Given the description of an element on the screen output the (x, y) to click on. 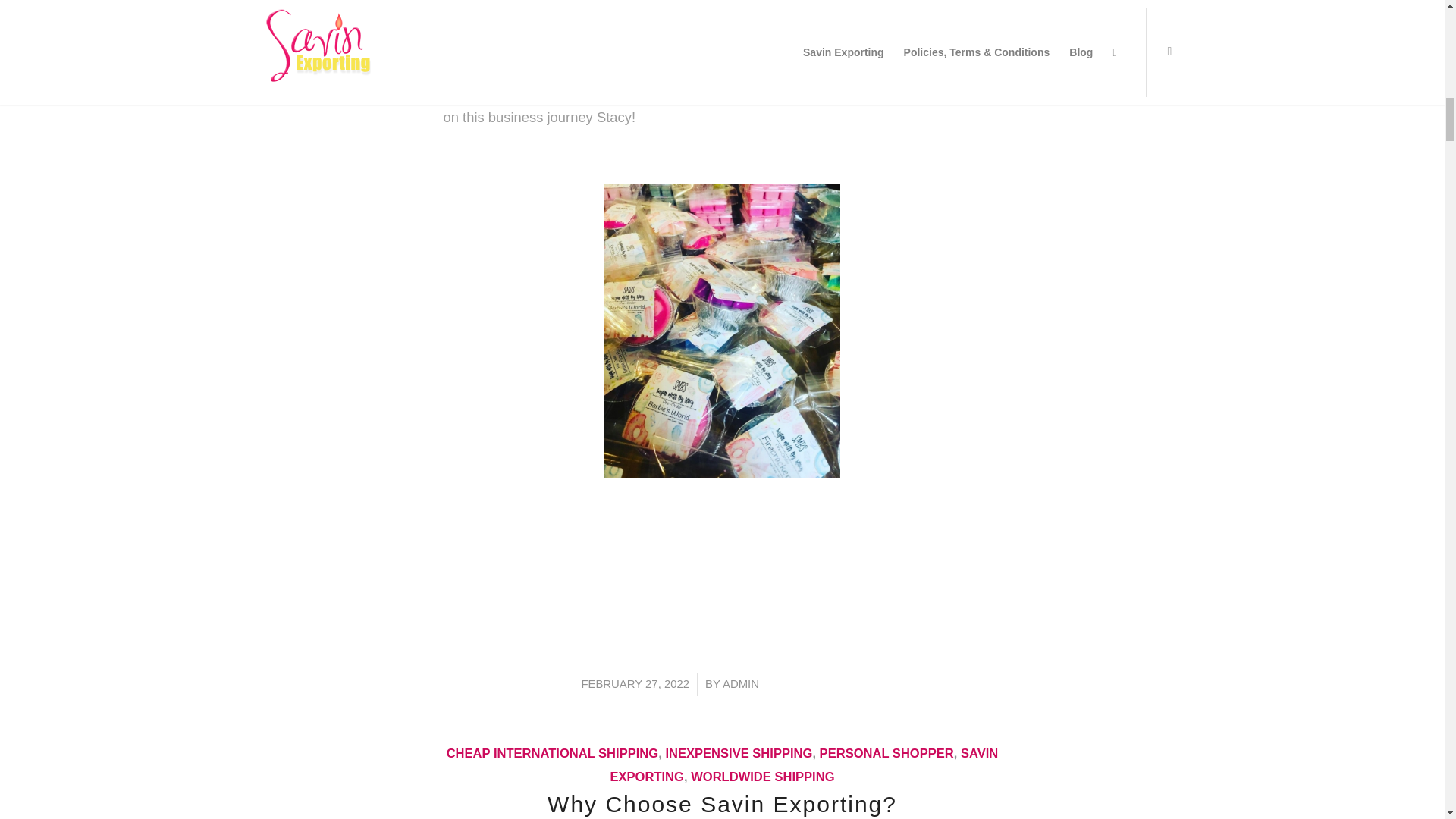
ADMIN (740, 684)
CHEAP INTERNATIONAL SHIPPING (552, 753)
INEXPENSIVE SHIPPING (738, 753)
Why Choose Savin Exporting? (721, 803)
PERSONAL SHOPPER (886, 753)
SAVIN EXPORTING (803, 764)
Permanent Link: Why Choose Savin Exporting? (721, 803)
Posts by admin (740, 684)
WORLDWIDE SHIPPING (762, 776)
